Given the description of an element on the screen output the (x, y) to click on. 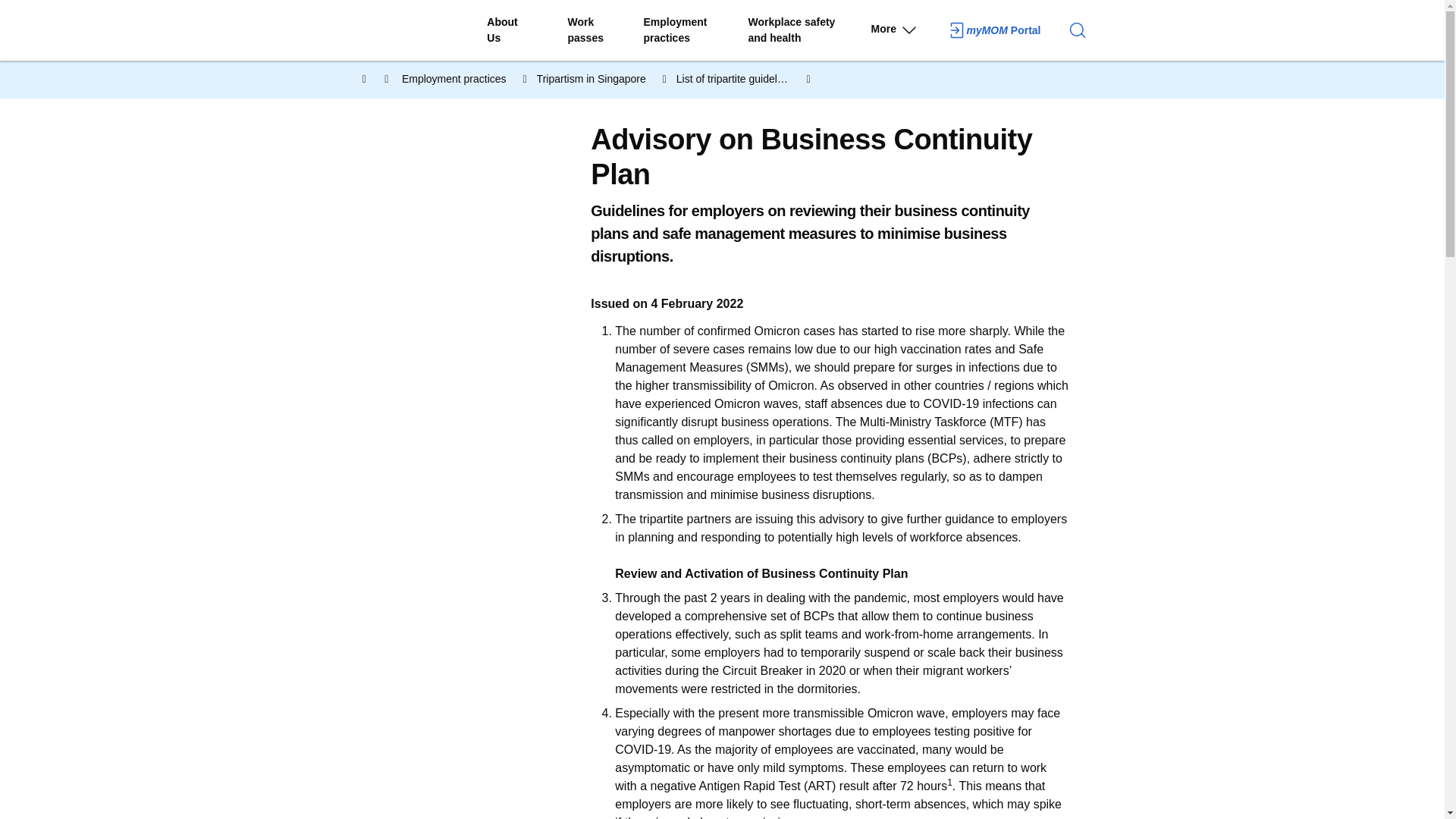
Tripartism in Singapore (602, 78)
List of tripartite guidelines and advisories (744, 78)
Tripartism in Singapore (602, 78)
About Us (510, 29)
List of tripartite guidelines and advisories (744, 78)
Work passes (994, 30)
Ministry of Manpower (598, 30)
More (422, 30)
Employment practices (902, 32)
